Given the description of an element on the screen output the (x, y) to click on. 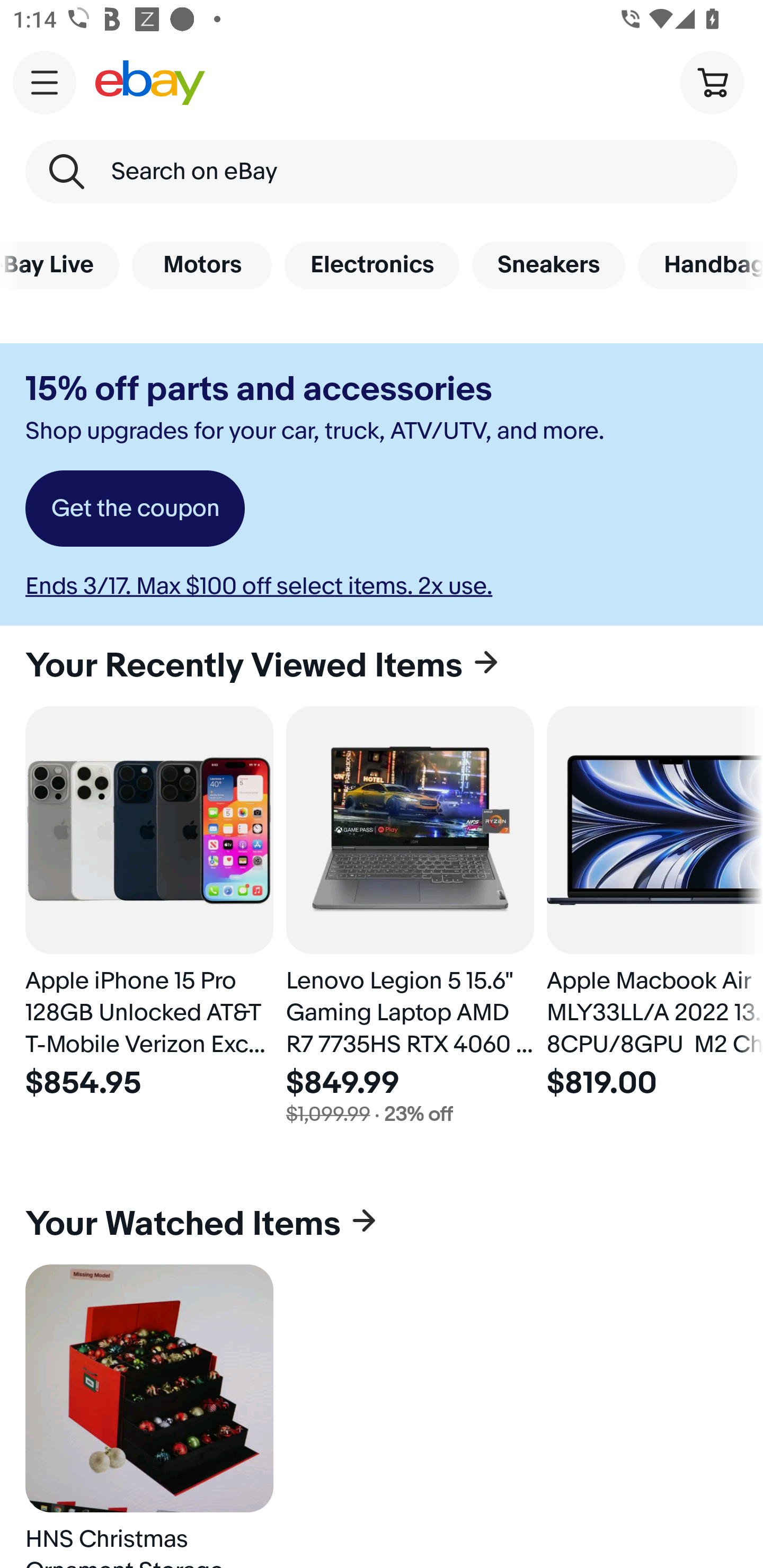
Main navigation, open (44, 82)
Cart button shopping cart (711, 81)
Search on eBay Search Keyword Search on eBay (381, 171)
eBay Live (59, 264)
Motors (201, 264)
Electronics (371, 264)
Sneakers (548, 264)
Handbags (700, 264)
15% off parts and accessories (258, 389)
Get the coupon (134, 508)
Ends 3/17. Max $100 off select items. 2x use. (258, 586)
Your Recently Viewed Items   (381, 665)
Your Watched Items   (381, 1223)
